Given the description of an element on the screen output the (x, y) to click on. 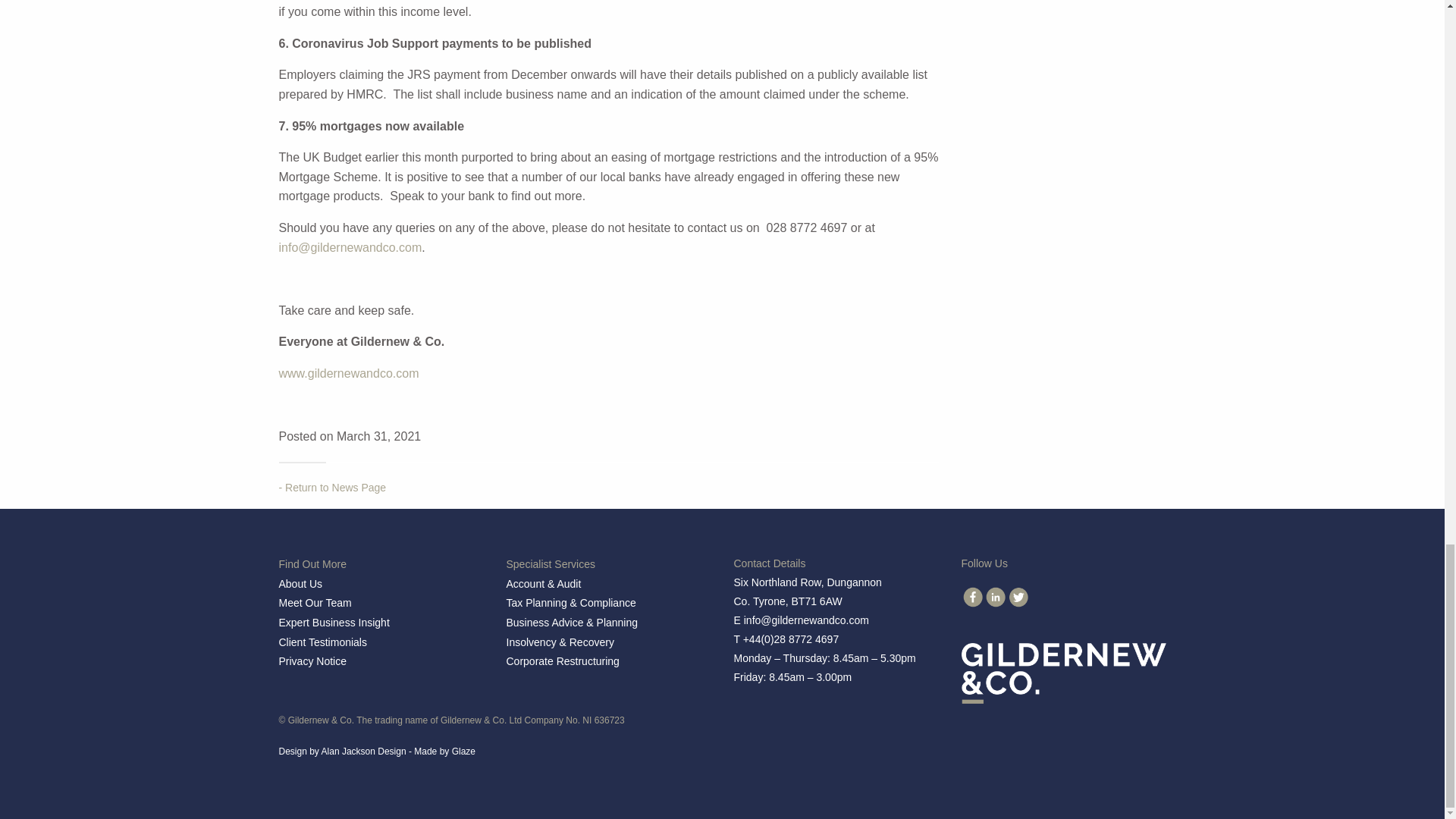
- Return to News Page (333, 487)
www.gildernewandco.com (349, 373)
